Given the description of an element on the screen output the (x, y) to click on. 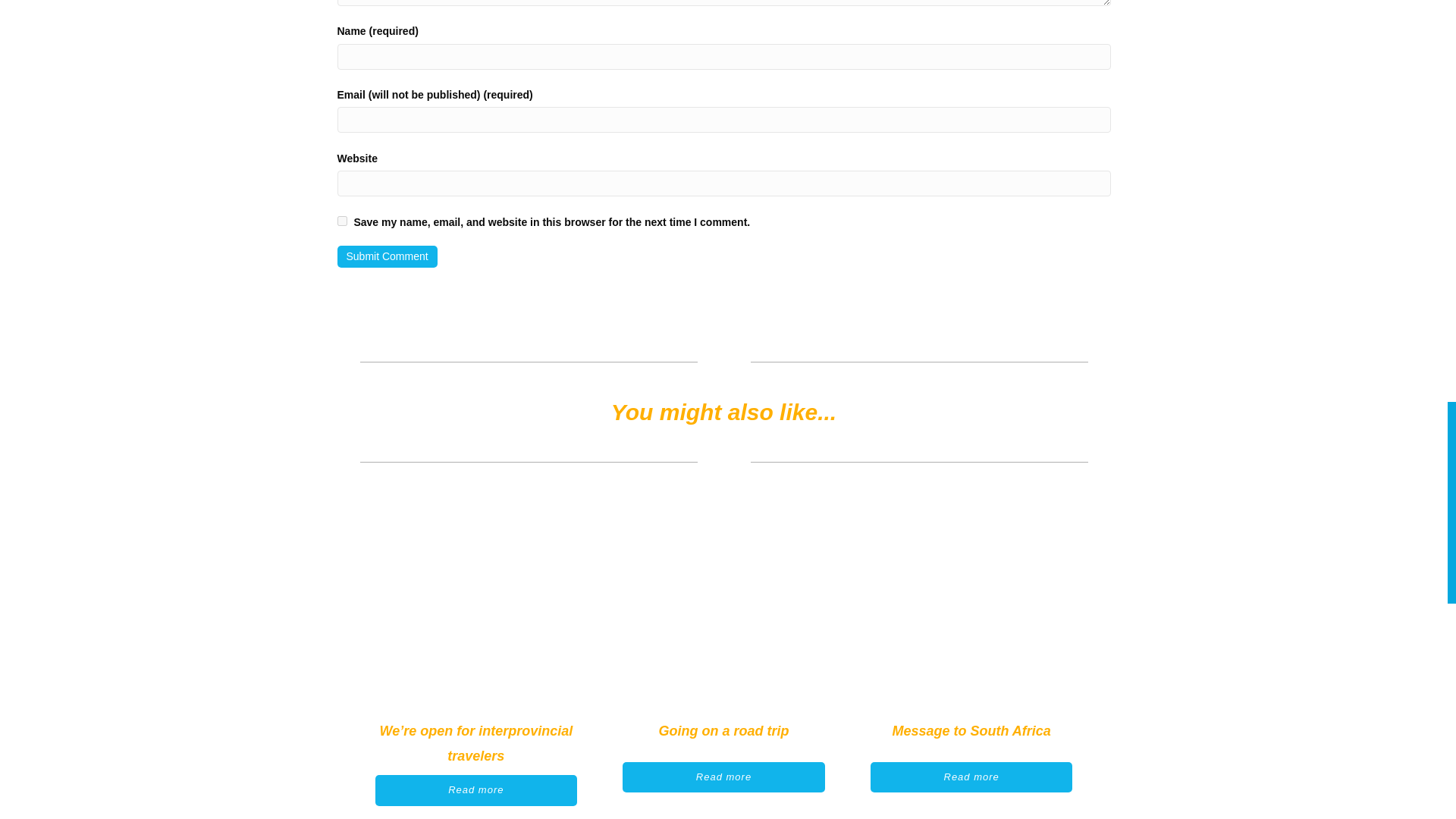
yes (341, 221)
Submit Comment (386, 256)
Message to South Africa (970, 730)
Going on a road trip (723, 730)
